Given the description of an element on the screen output the (x, y) to click on. 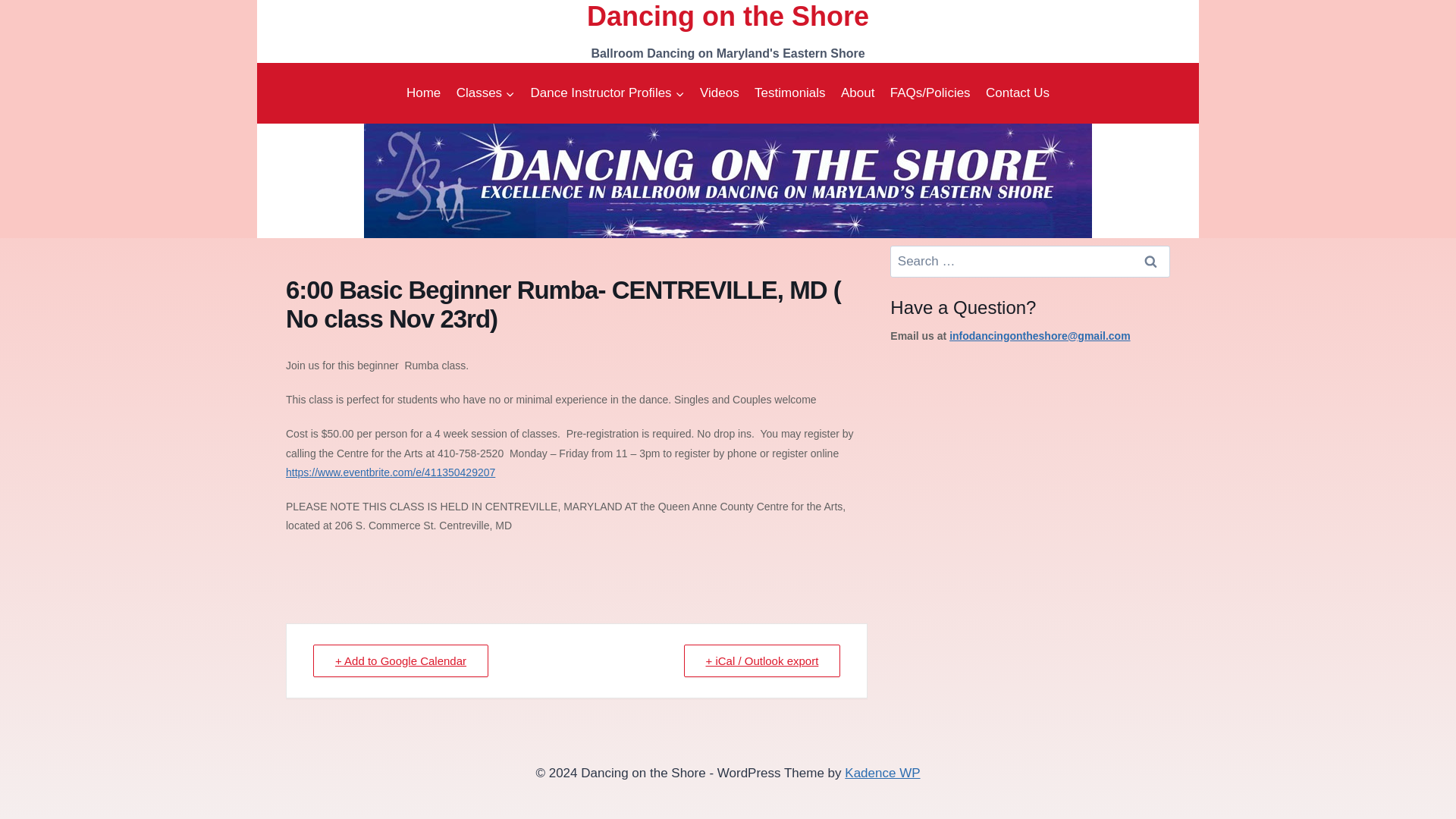
Dance Instructor Profiles (607, 93)
Kadence WP (882, 772)
Search (1142, 253)
Classes (485, 93)
Videos (719, 93)
Search (1142, 253)
About (857, 93)
Search (1142, 253)
Testimonials (789, 93)
Home (423, 93)
Contact Us (1017, 93)
